Given the description of an element on the screen output the (x, y) to click on. 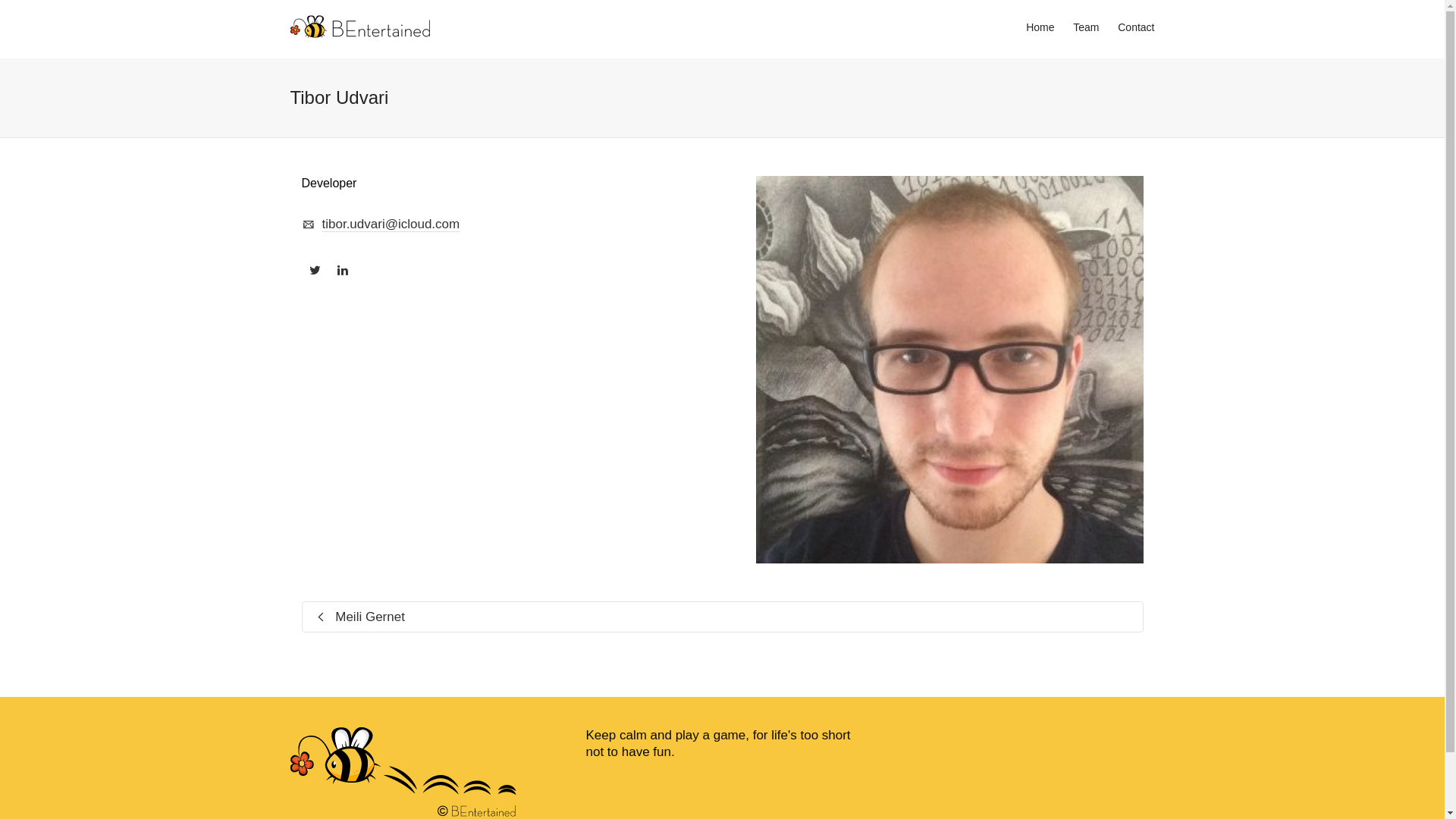
Home Element type: text (1040, 27)
Contact Element type: text (1135, 27)
Team Element type: text (1085, 27)
Meili Gernet Element type: text (511, 616)
tibor.udvari@icloud.com Element type: text (390, 224)
